Given the description of an element on the screen output the (x, y) to click on. 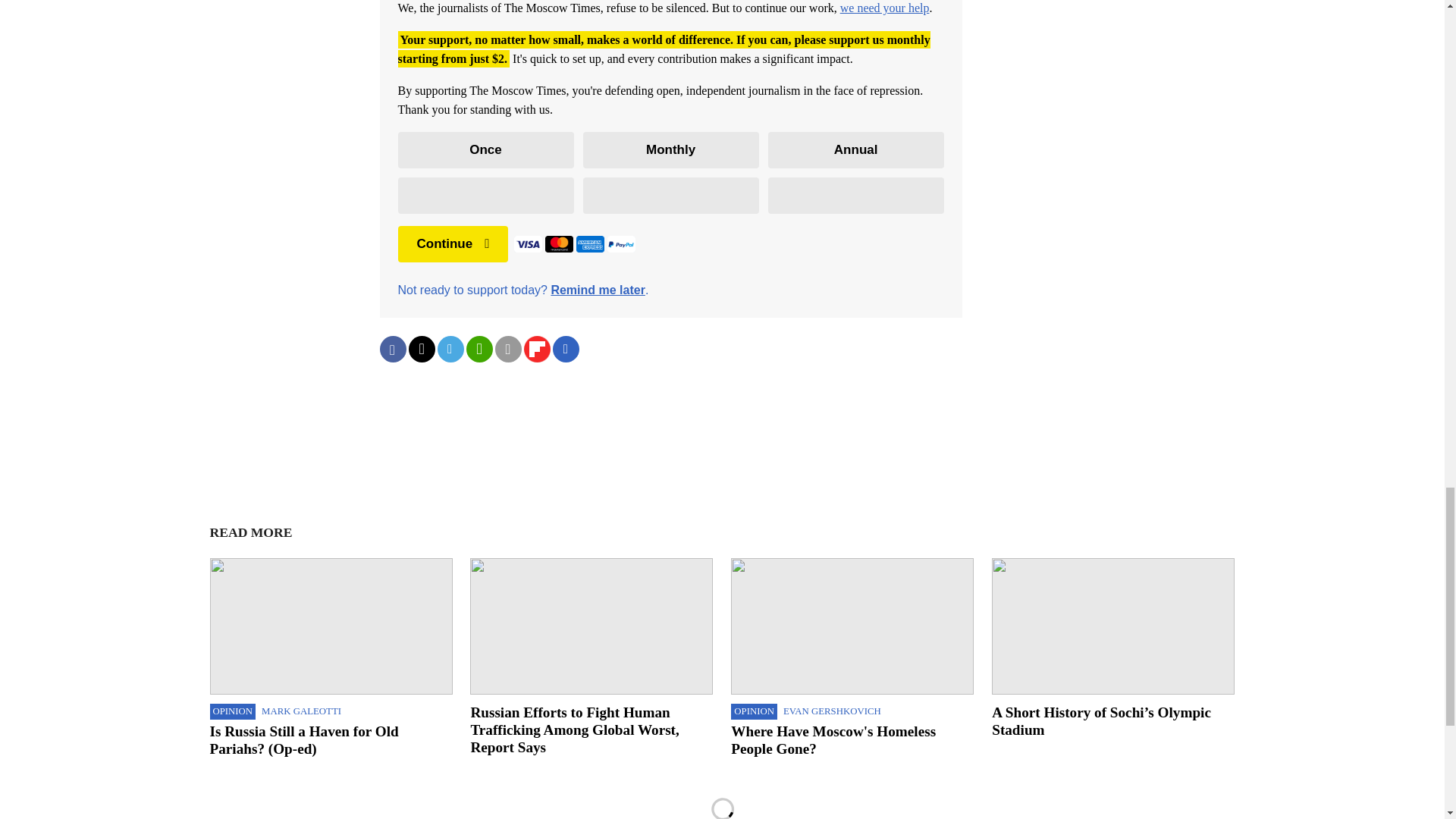
we need your help (885, 7)
Share on Facebook (392, 348)
Share on Twitter (420, 348)
Share on Telegram (449, 348)
Share on Flipboard (536, 348)
